Given the description of an element on the screen output the (x, y) to click on. 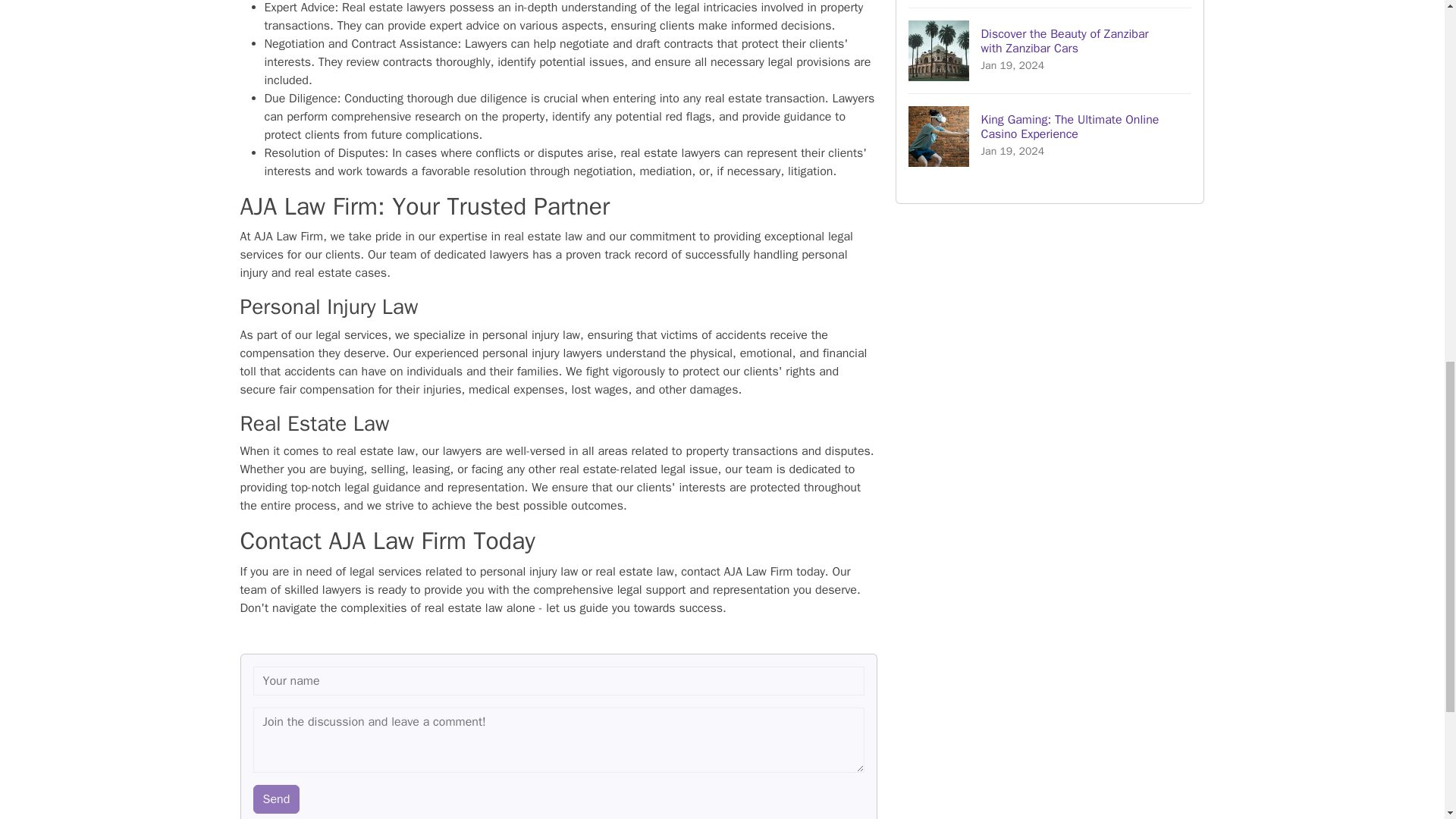
Send (276, 799)
Send (276, 799)
